Given the description of an element on the screen output the (x, y) to click on. 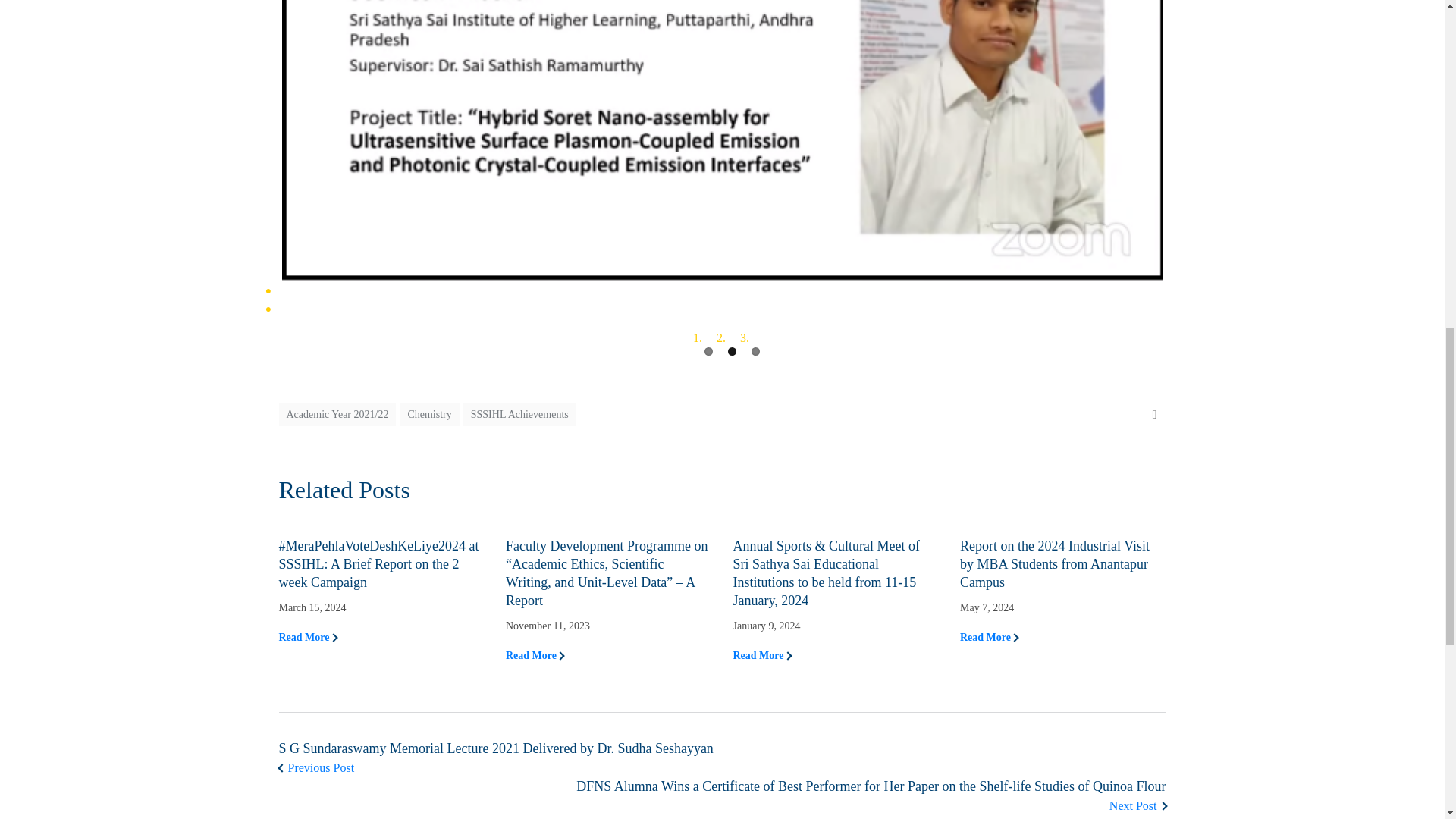
Figure 1 (141, 144)
